Given the description of an element on the screen output the (x, y) to click on. 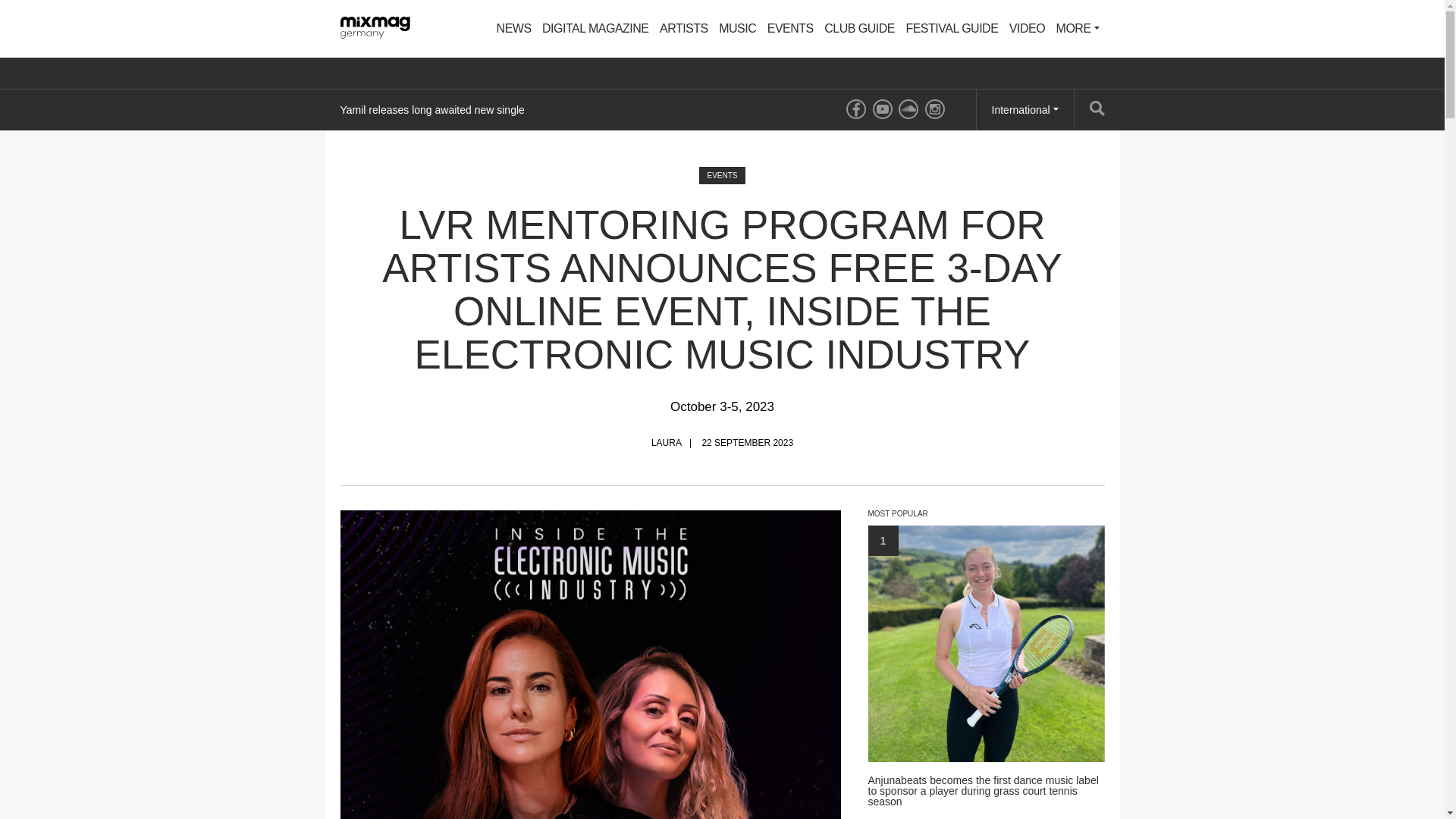
FESTIVAL GUIDE (951, 28)
DIGITAL MAGAZINE (595, 28)
MORE (1078, 28)
EVENTS (789, 28)
Yamil releases long awaited new single (431, 109)
CLUB GUIDE (858, 28)
ARTISTS (683, 28)
